Given the description of an element on the screen output the (x, y) to click on. 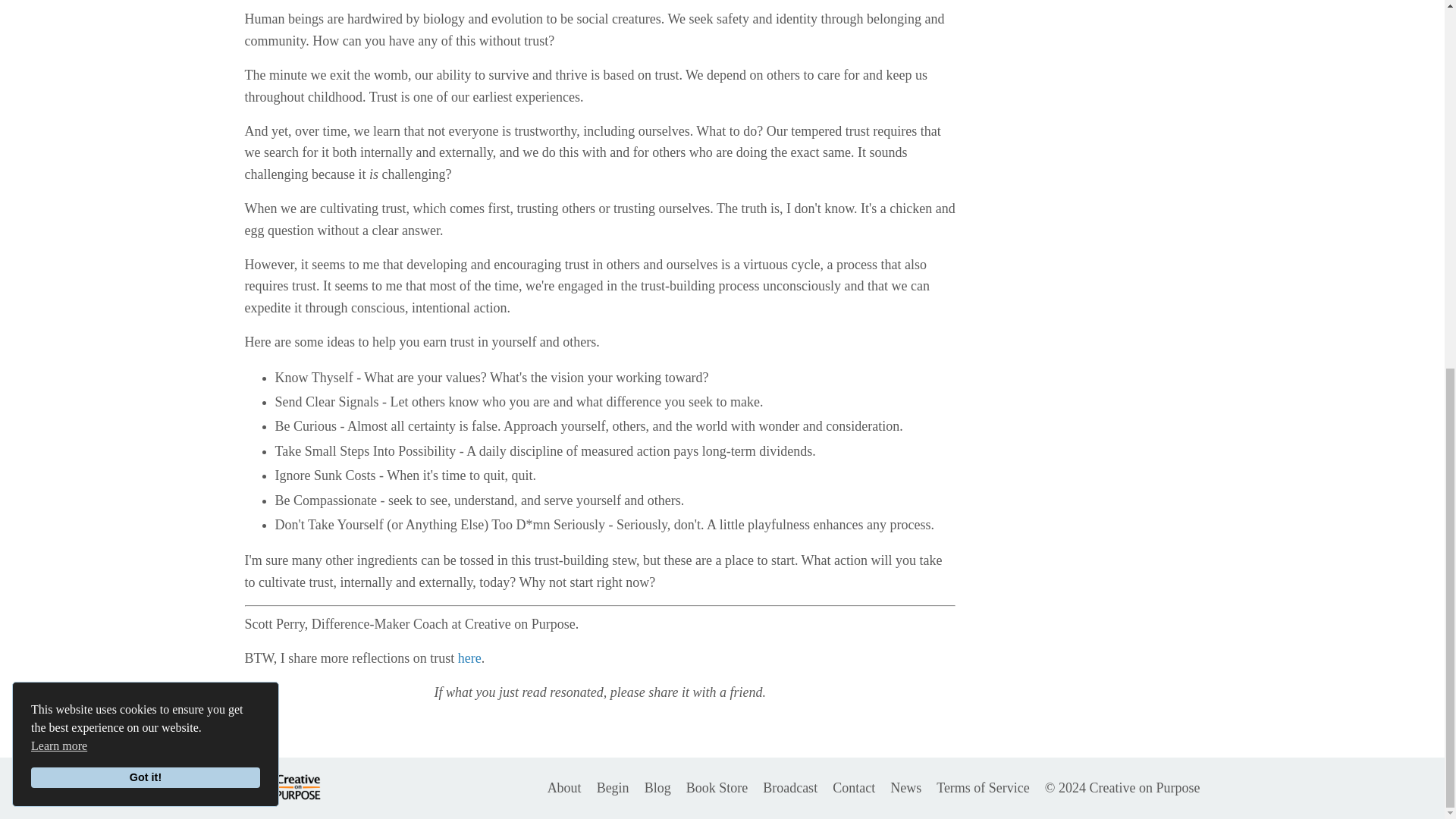
Blog (658, 788)
Learn more (58, 78)
here (469, 657)
Terms of Service (982, 788)
Book Store (716, 788)
News (905, 788)
Broadcast (789, 788)
Contact (853, 788)
About (563, 788)
Got it! (145, 110)
Begin (612, 788)
